Given the description of an element on the screen output the (x, y) to click on. 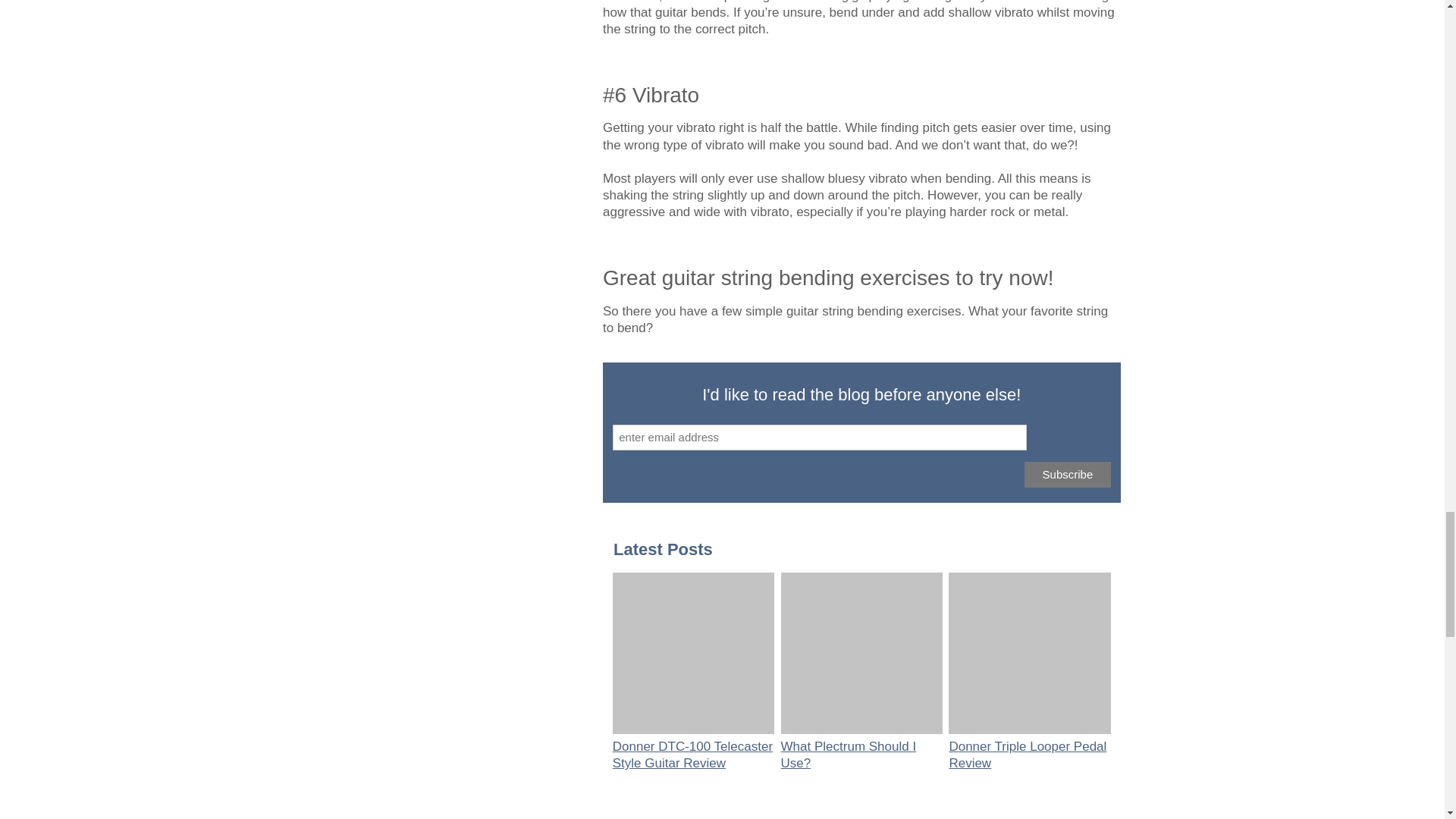
Donner DTC-100 Telecaster Style Guitar Review (692, 754)
Donner Triple Looper Pedal Review (1027, 754)
Subscribe (1067, 474)
Subscribe (1067, 474)
What Plectrum Should I Use? (848, 754)
